Given the description of an element on the screen output the (x, y) to click on. 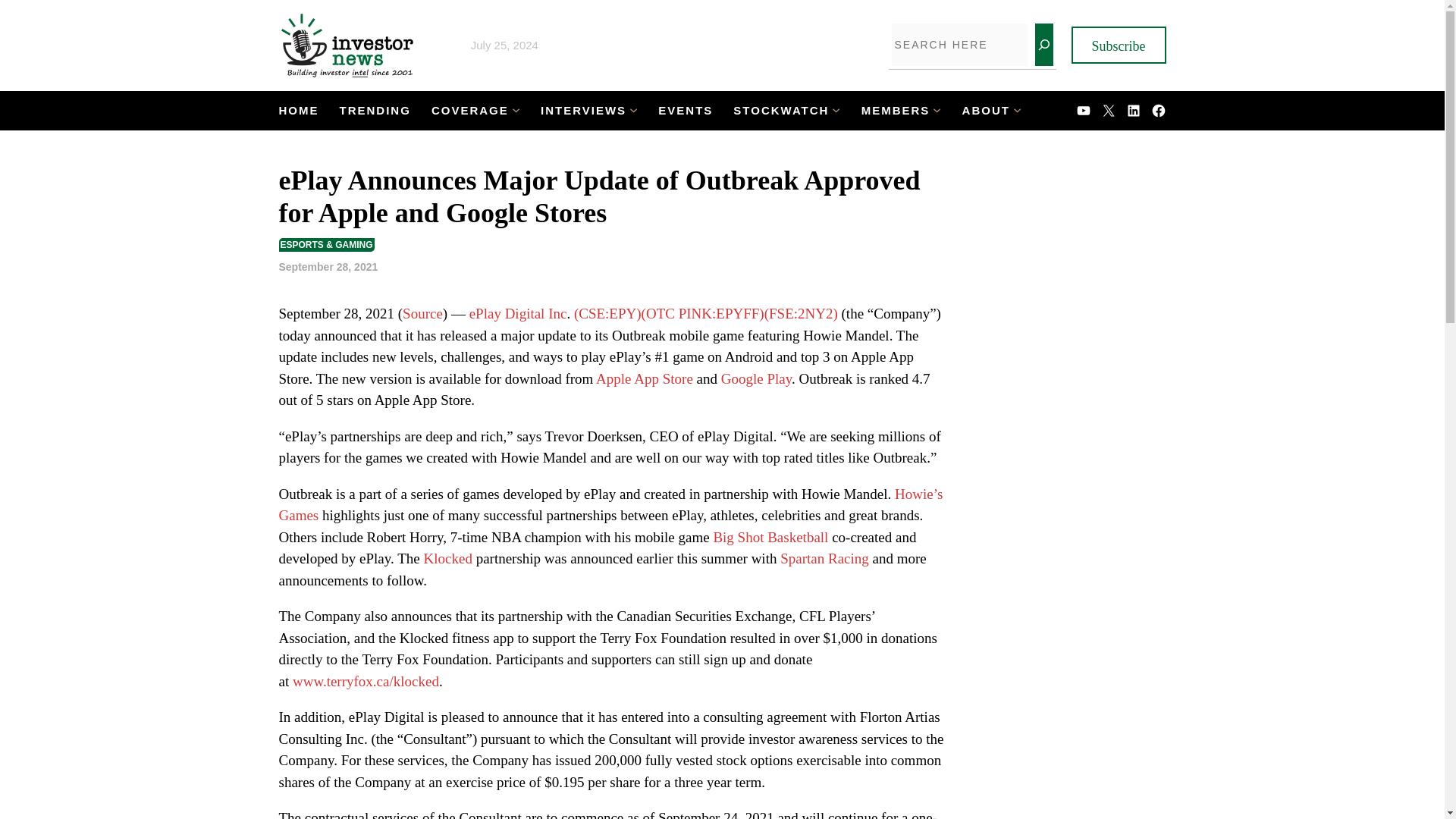
ABOUT (986, 110)
EVENTS (685, 110)
TRENDING (374, 110)
COVERAGE (469, 110)
Subscribe (1118, 44)
MEMBERS (895, 110)
HOME (298, 110)
INTERVIEWS (583, 110)
STOCKWATCH (780, 110)
